Given the description of an element on the screen output the (x, y) to click on. 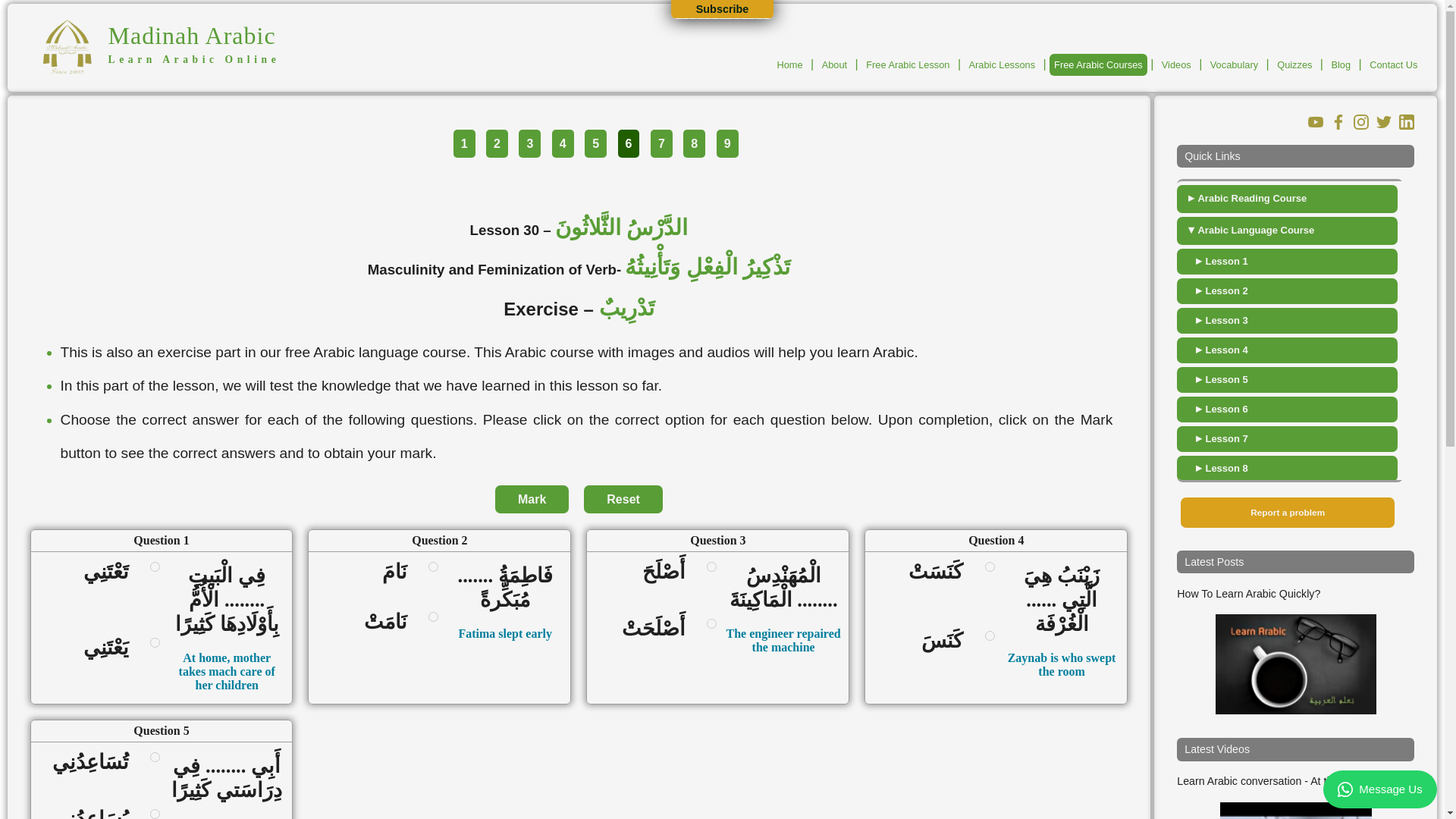
Videos (1176, 65)
on (154, 566)
on (989, 566)
Free Arabic Courses (1098, 65)
on (711, 623)
Reset (622, 499)
Arabic Quizzes (1294, 65)
Home (788, 65)
Arabic Lessons (1002, 65)
on (711, 566)
